Given the description of an element on the screen output the (x, y) to click on. 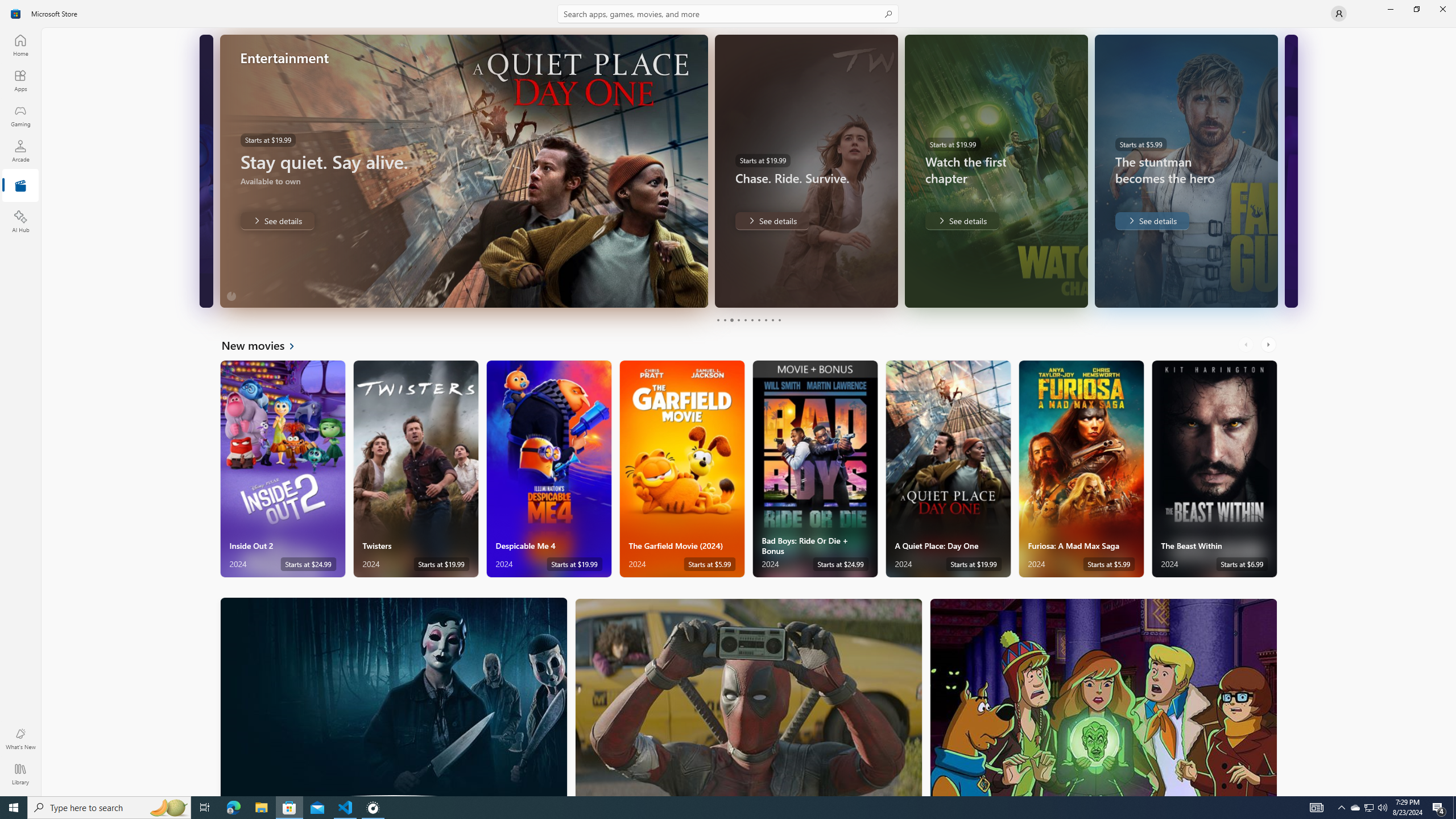
Minimize Microsoft Store (1390, 9)
Page 2 (724, 319)
Library (20, 773)
Page 3 (731, 319)
Entertainment (20, 185)
Arcade (20, 150)
See all  New movies (264, 345)
AutomationID: Image (1290, 170)
Pager (748, 319)
Action & Adventure (749, 697)
Bad Boys: Ride Or Die + Bonus. Starts at $24.99   (814, 469)
Home (20, 45)
Page 1 (717, 319)
